Given the description of an element on the screen output the (x, y) to click on. 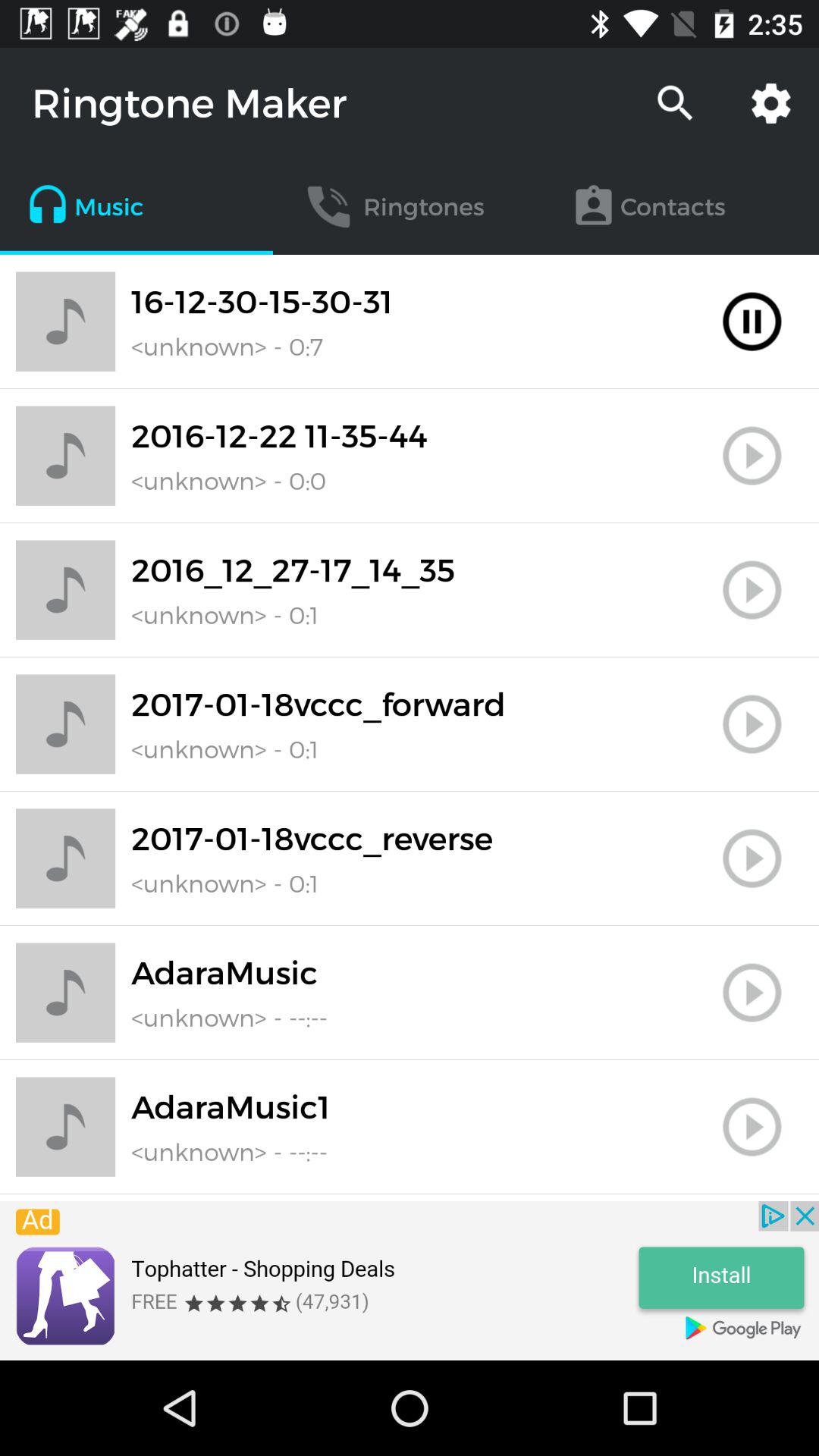
play (752, 321)
